Given the description of an element on the screen output the (x, y) to click on. 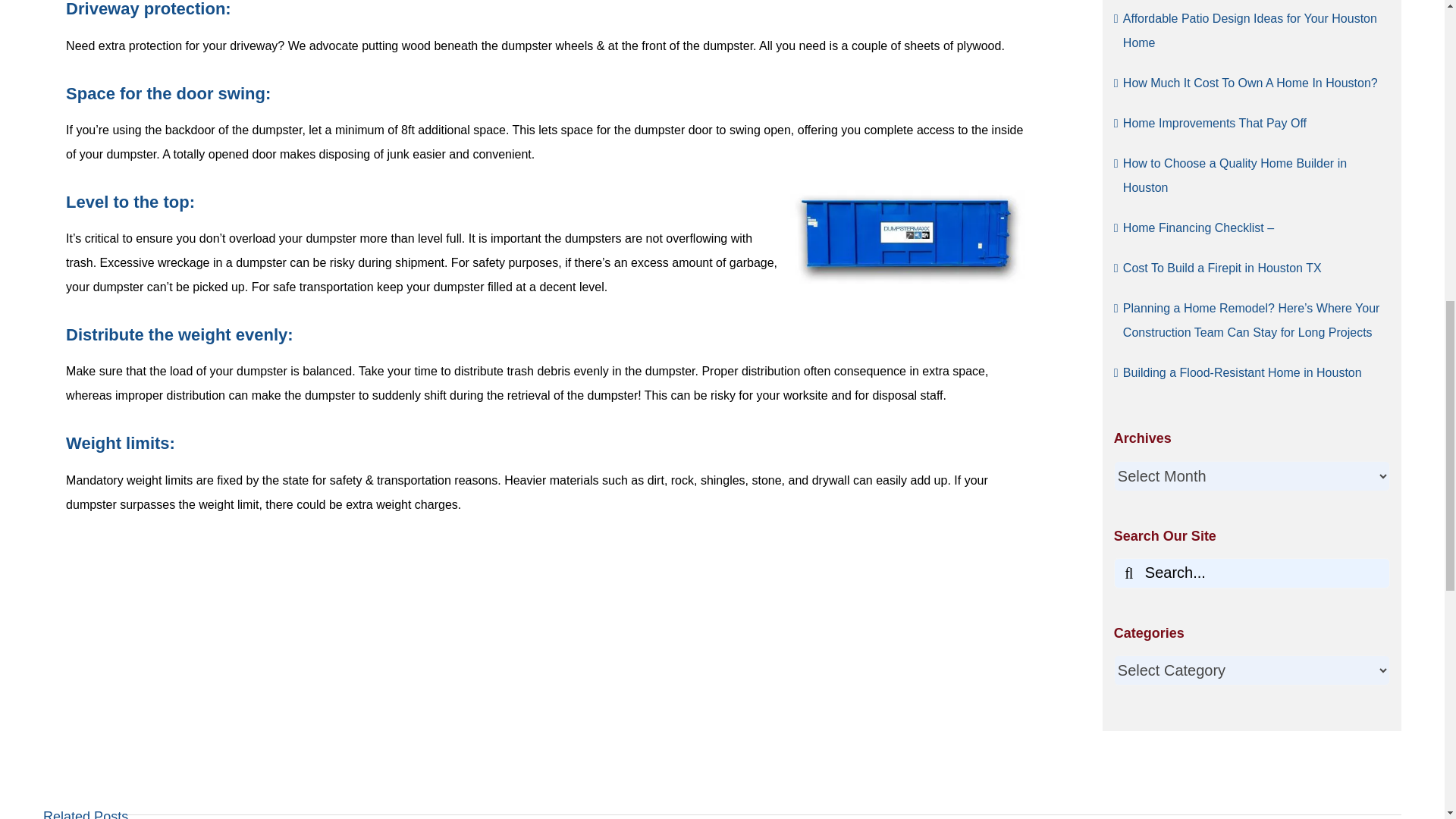
How Much It Cost To Own A Home In Houston? (1249, 82)
Home Improvements That Pay Off (1214, 123)
Affordable Patio Design Ideas for Your Houston Home (1249, 30)
